Given the description of an element on the screen output the (x, y) to click on. 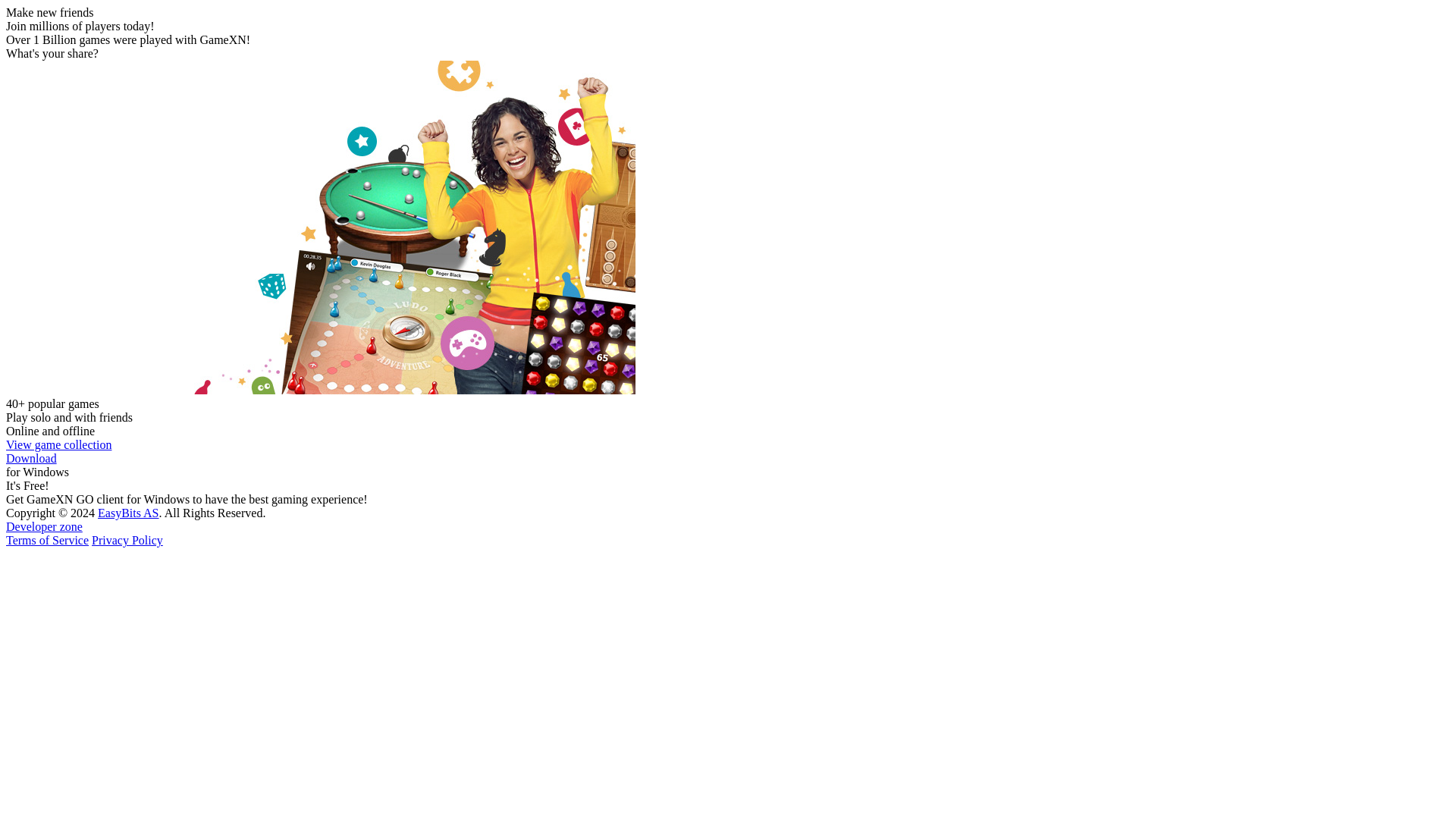
Download (30, 458)
EasyBits AS (127, 512)
View game collection (58, 444)
Developer zone (43, 526)
